Given the description of an element on the screen output the (x, y) to click on. 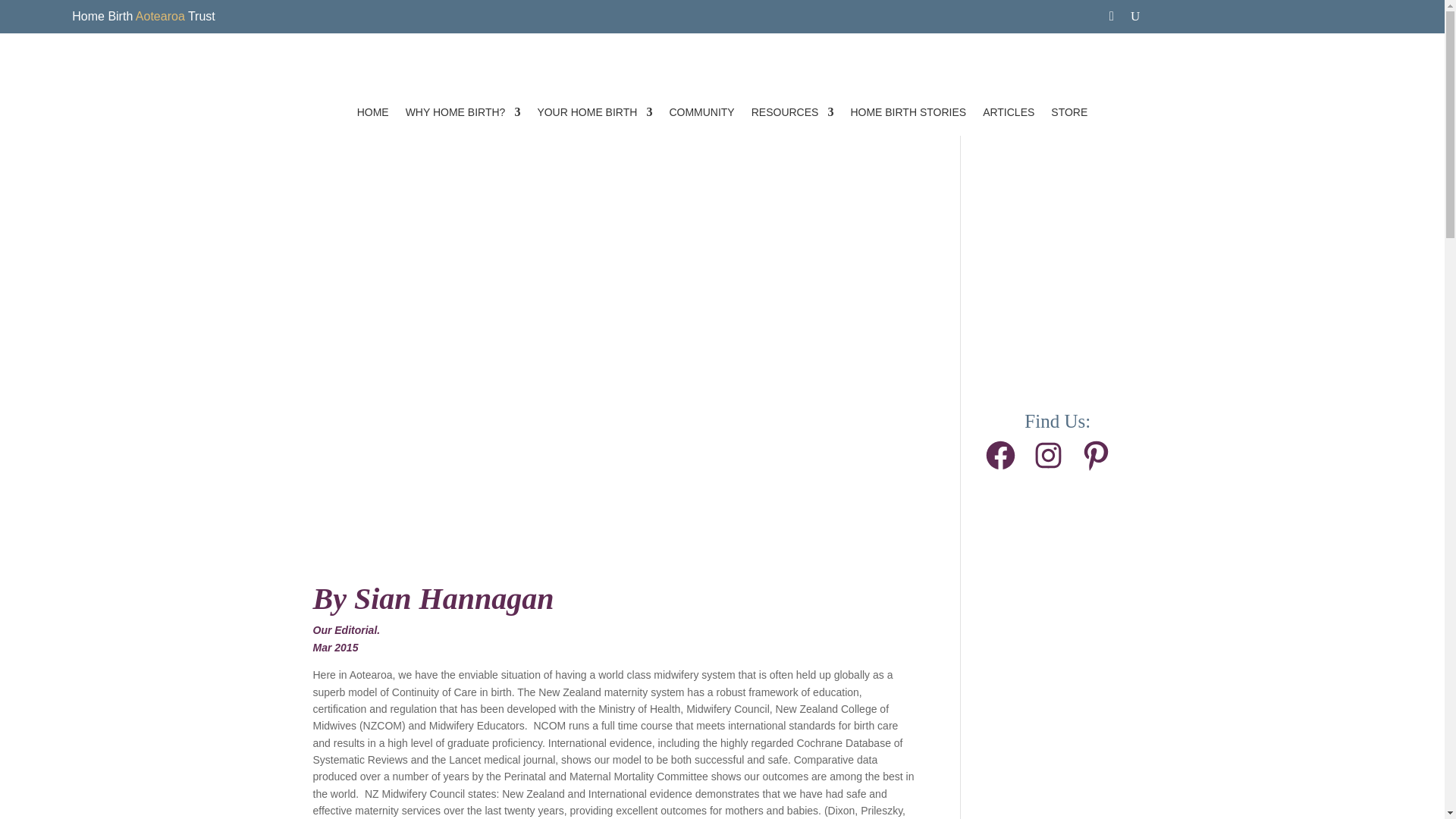
HOME BIRTH STORIES (908, 111)
YOUR HOME BIRTH (594, 111)
ARTICLES (1007, 111)
Instagram (1047, 455)
Pinterest (1095, 455)
WHY HOME BIRTH? (463, 111)
RESOURCES (792, 111)
COMMUNITY (700, 111)
Facebook (1000, 455)
